Given the description of an element on the screen output the (x, y) to click on. 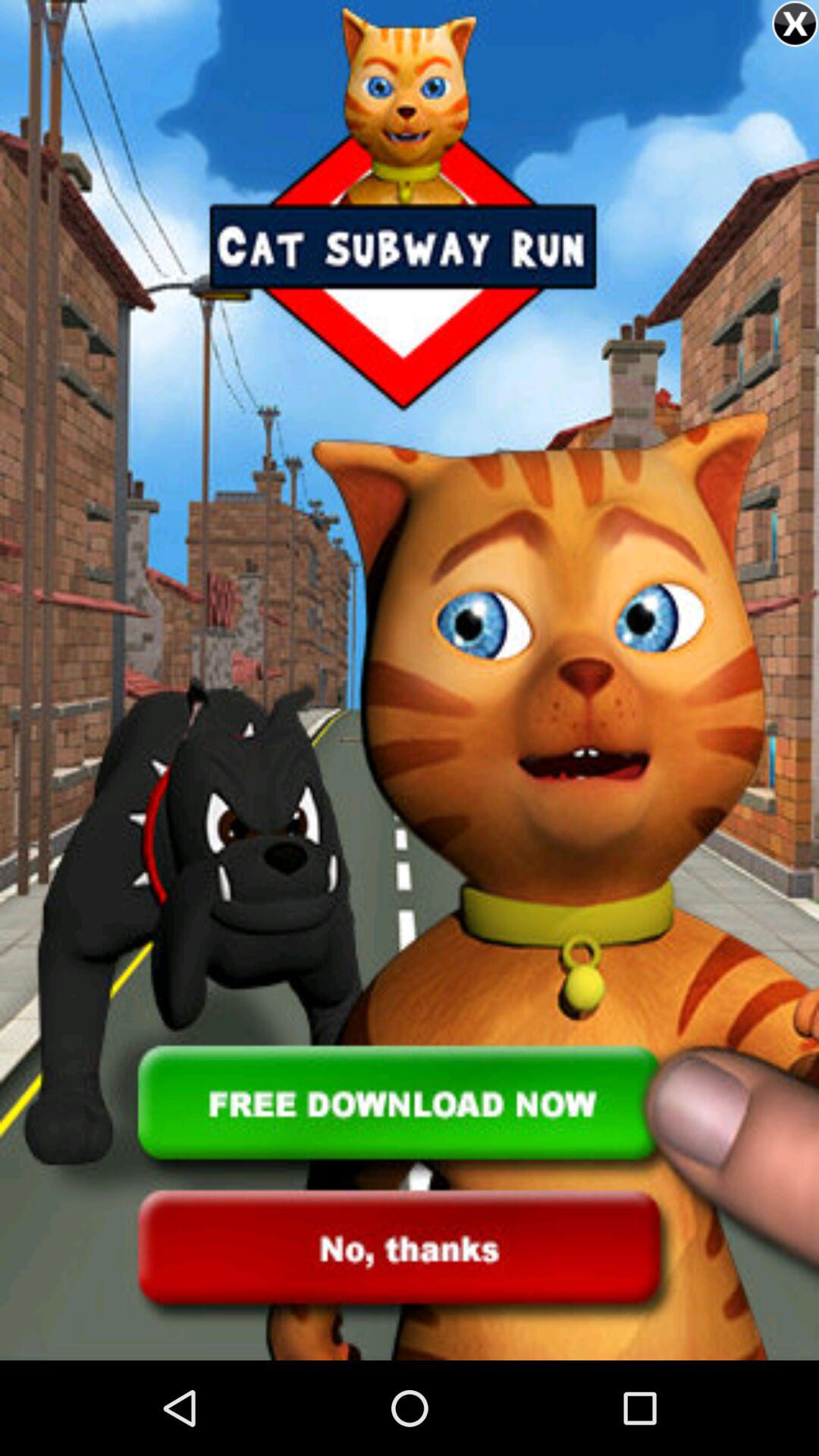
close (795, 23)
